Given the description of an element on the screen output the (x, y) to click on. 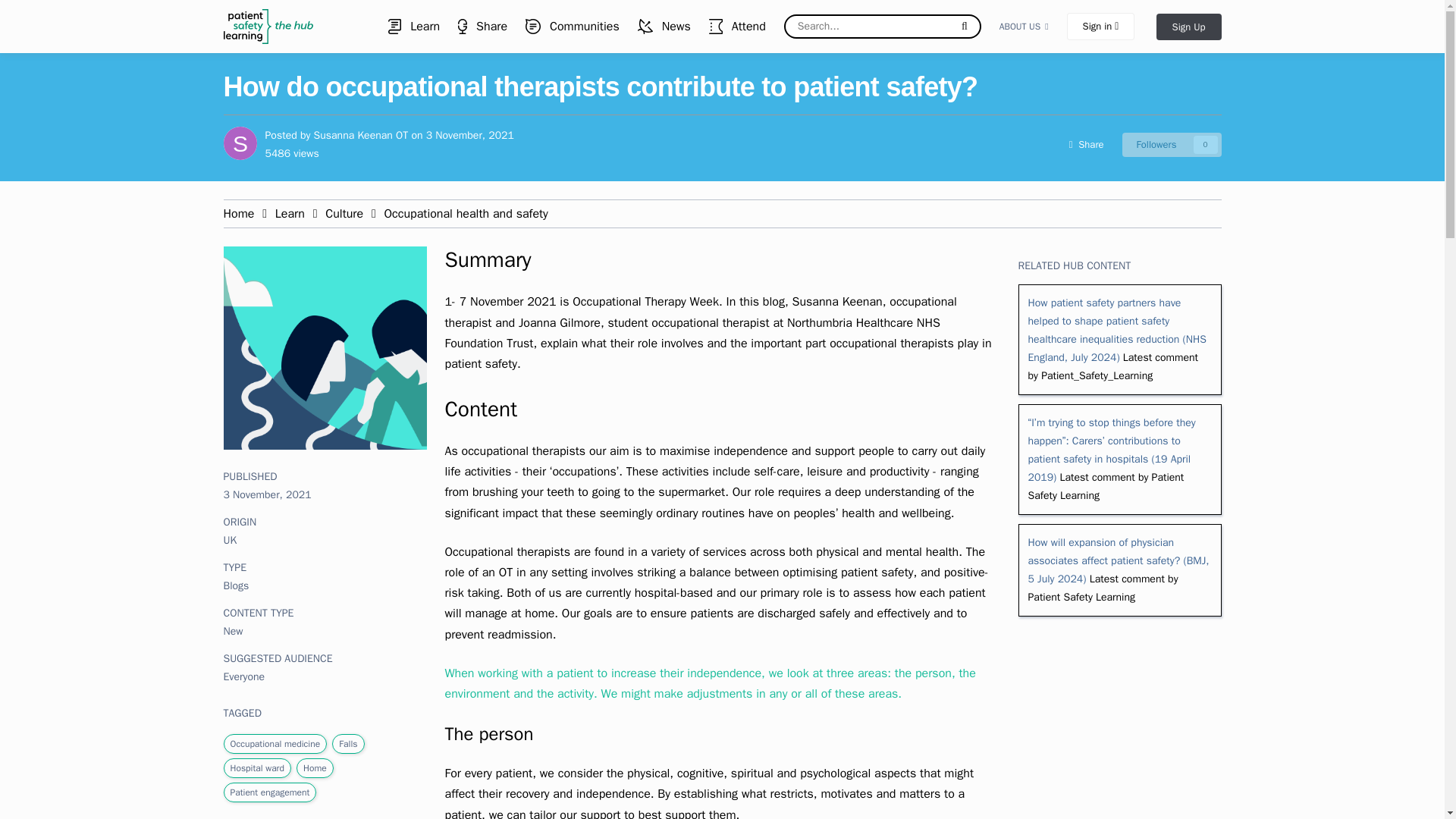
Go to Susanna Keenan OT's profile (361, 134)
Go to Susanna Keenan OT's profile (239, 142)
Sign Up (1188, 26)
Find other content tagged with 'Patient engagement' (270, 792)
News (664, 26)
Sign in (1101, 26)
Communities (572, 26)
Sign in to follow this (1171, 144)
Home (239, 213)
Find other content tagged with 'Falls' (347, 743)
Find other content tagged with 'Home' (314, 767)
Susanna Keenan OT (1171, 144)
Find other content tagged with 'Hospital ward' (361, 134)
Home (256, 767)
